Given the description of an element on the screen output the (x, y) to click on. 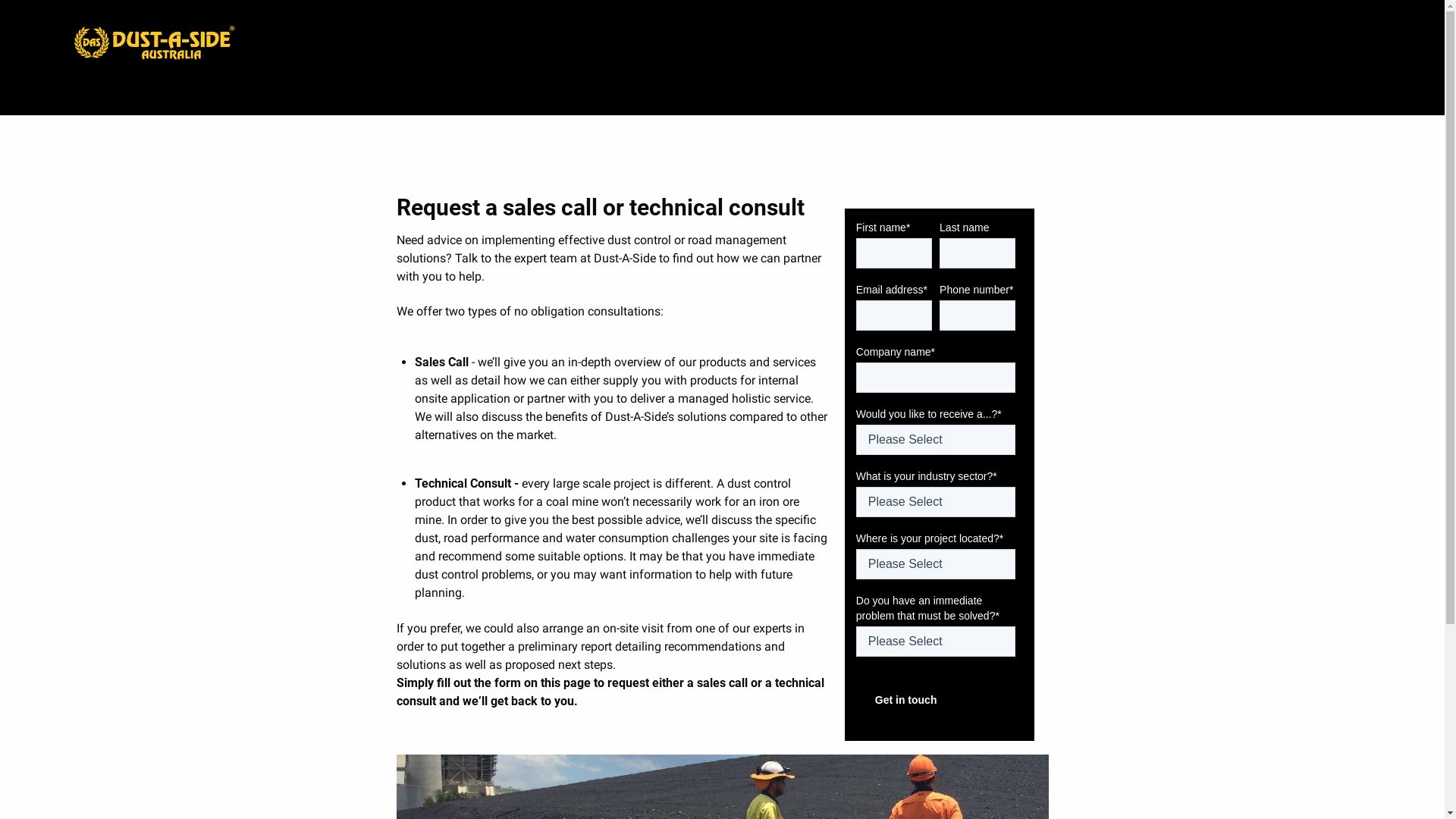
Dustaside Element type: hover (153, 42)
Get in touch  Element type: text (907, 699)
